Given the description of an element on the screen output the (x, y) to click on. 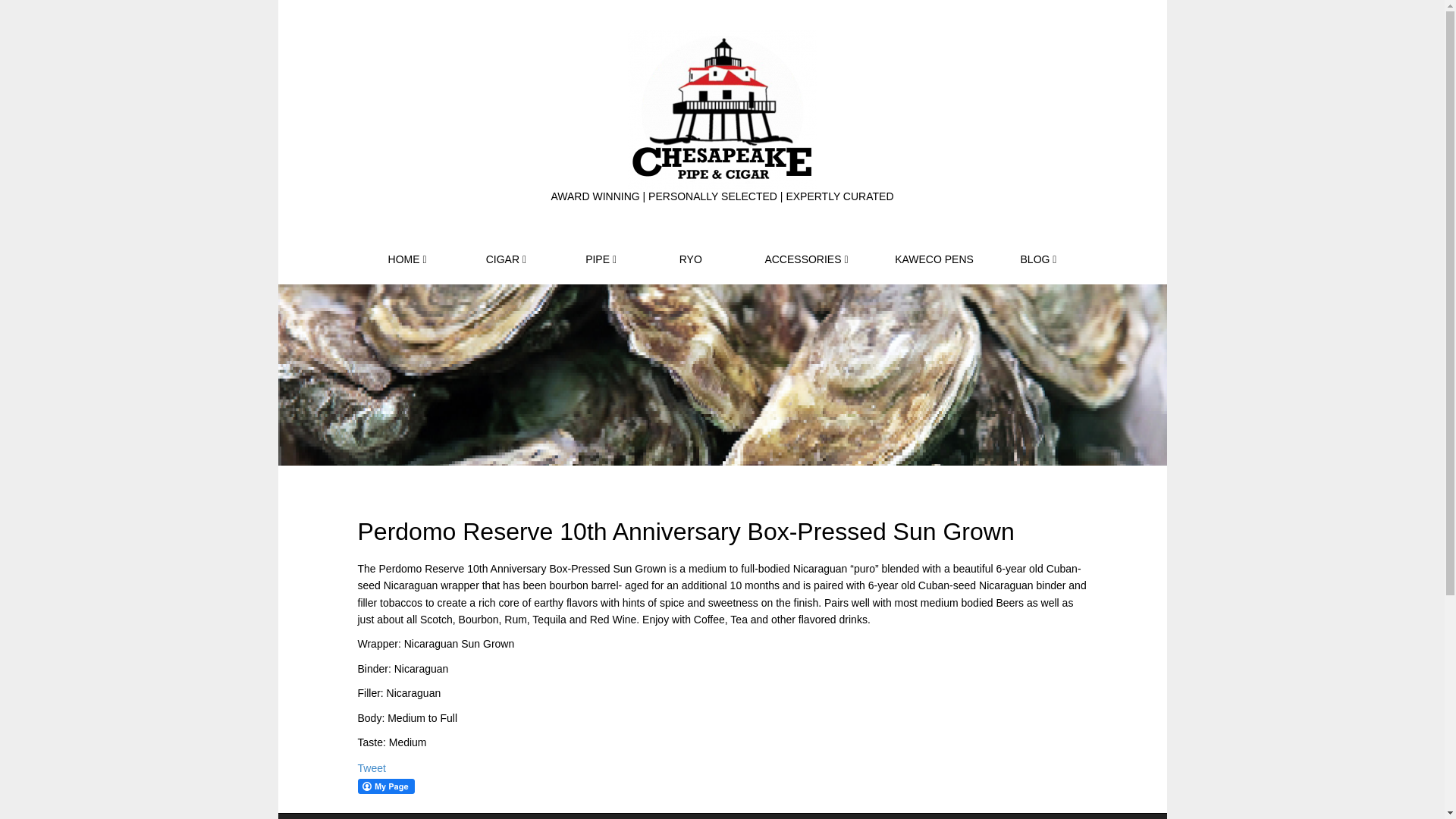
RYO (690, 259)
ACCESSORIES (806, 259)
CIGAR (506, 259)
PIPE (601, 259)
HOME (406, 259)
